Given the description of an element on the screen output the (x, y) to click on. 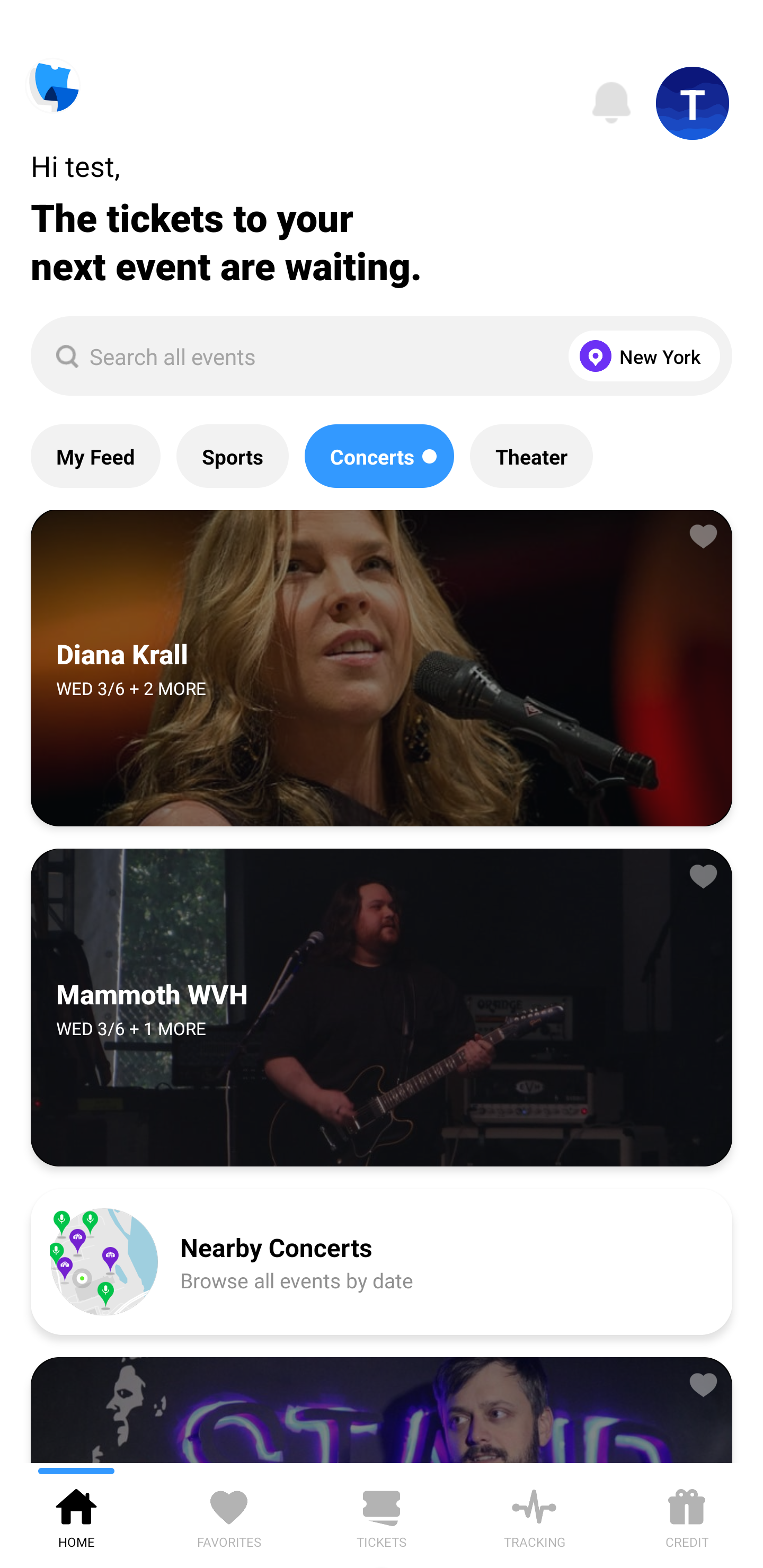
T (692, 103)
New York (640, 355)
My Feed (95, 455)
Sports (232, 455)
Concerts (378, 455)
Theater (531, 455)
HOME (76, 1515)
FAVORITES (228, 1515)
TICKETS (381, 1515)
TRACKING (533, 1515)
CREDIT (686, 1515)
